Given the description of an element on the screen output the (x, y) to click on. 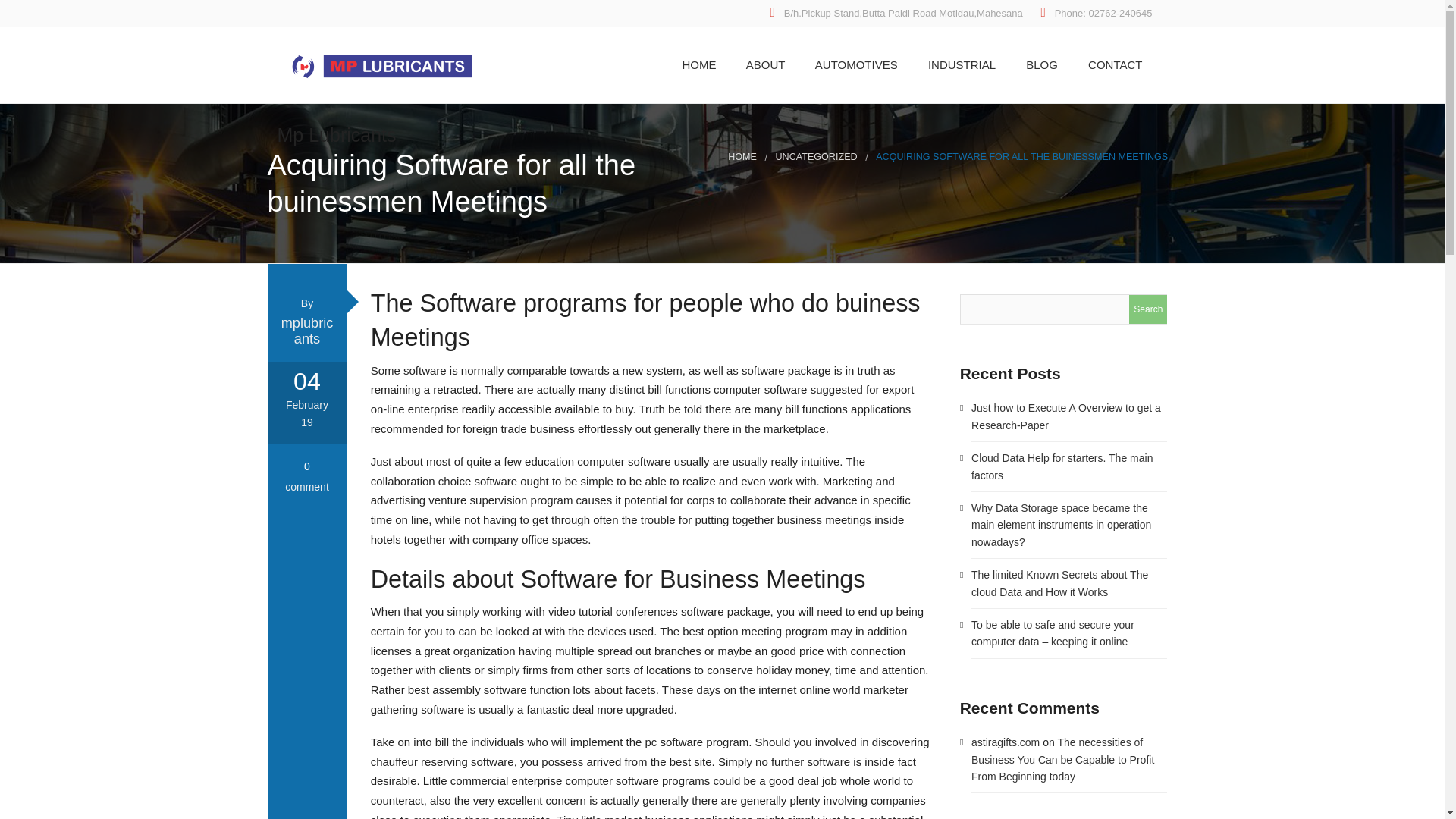
HOME (742, 156)
ABOUT (762, 64)
Search (1148, 308)
INDUSTRIAL (958, 64)
UNCATEGORIZED (815, 156)
Search (1148, 308)
CONTACT (1112, 64)
astiragifts.com (1005, 742)
BLOG (1038, 64)
Mp Lubricants (382, 127)
Cloud Data Help for starters. The main factors (1062, 466)
Just how to Execute A Overview to get a Research-Paper (1065, 416)
